Given the description of an element on the screen output the (x, y) to click on. 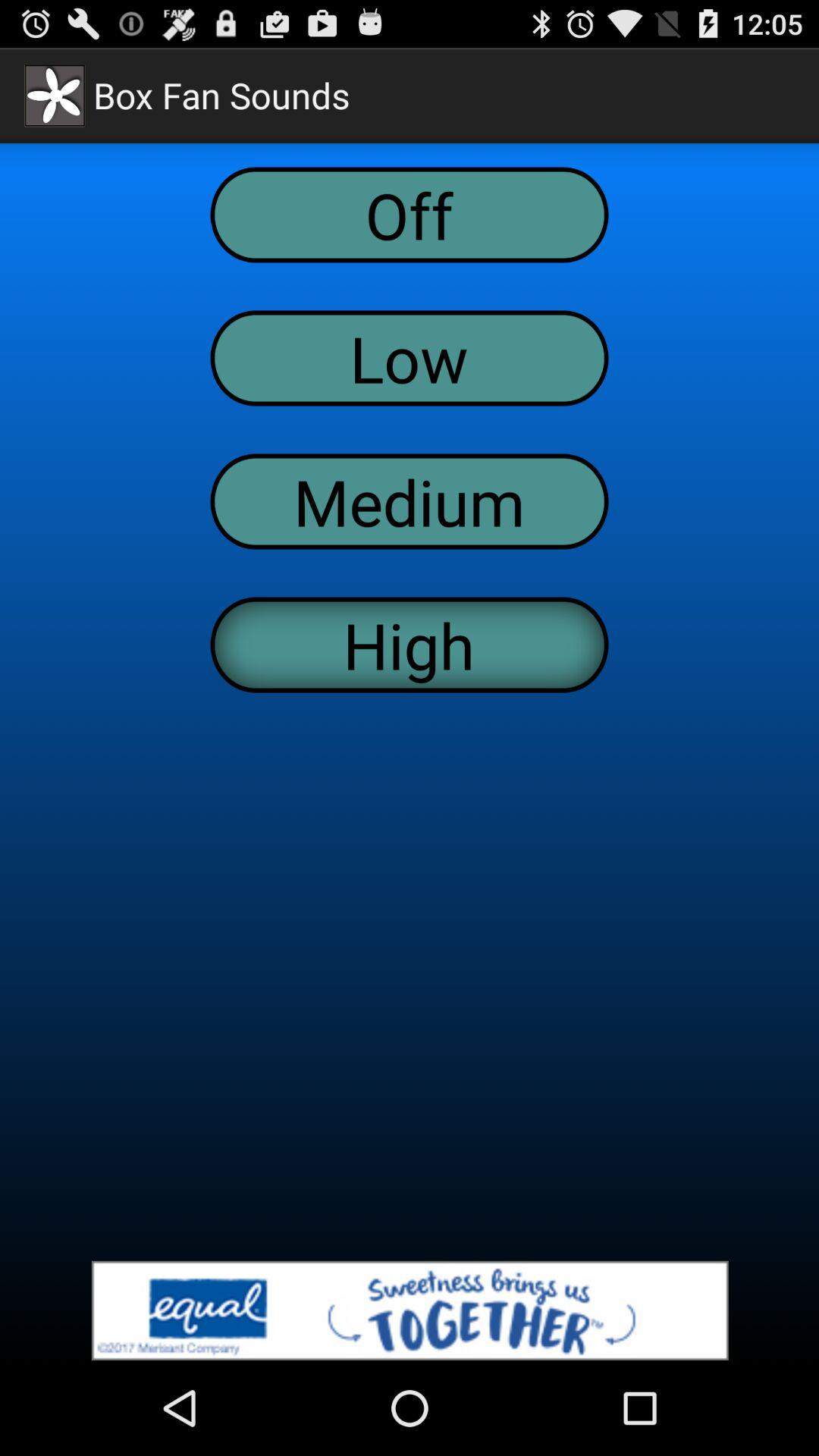
advertisement link image (409, 1310)
